Given the description of an element on the screen output the (x, y) to click on. 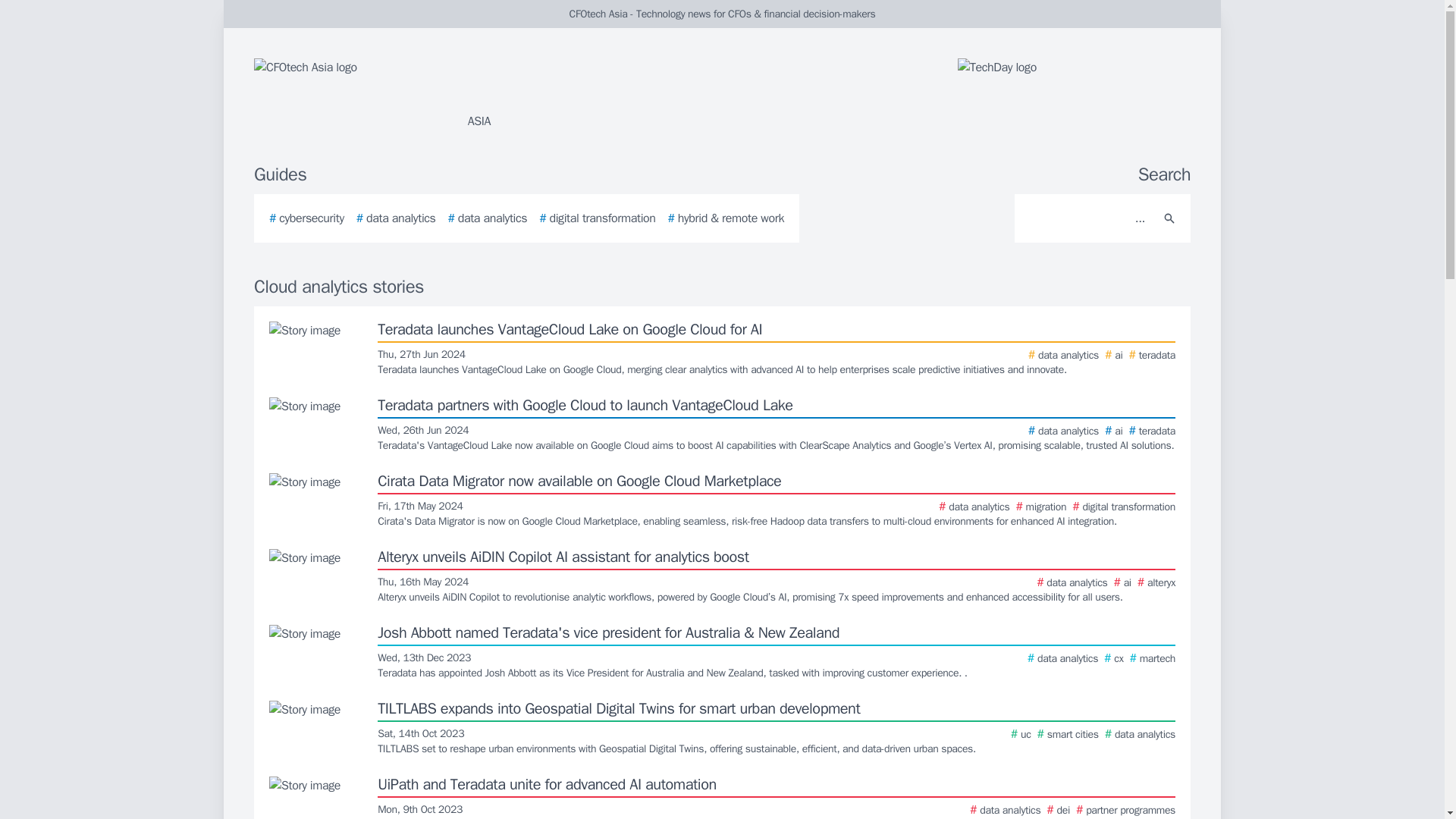
ASIA (435, 94)
